Given the description of an element on the screen output the (x, y) to click on. 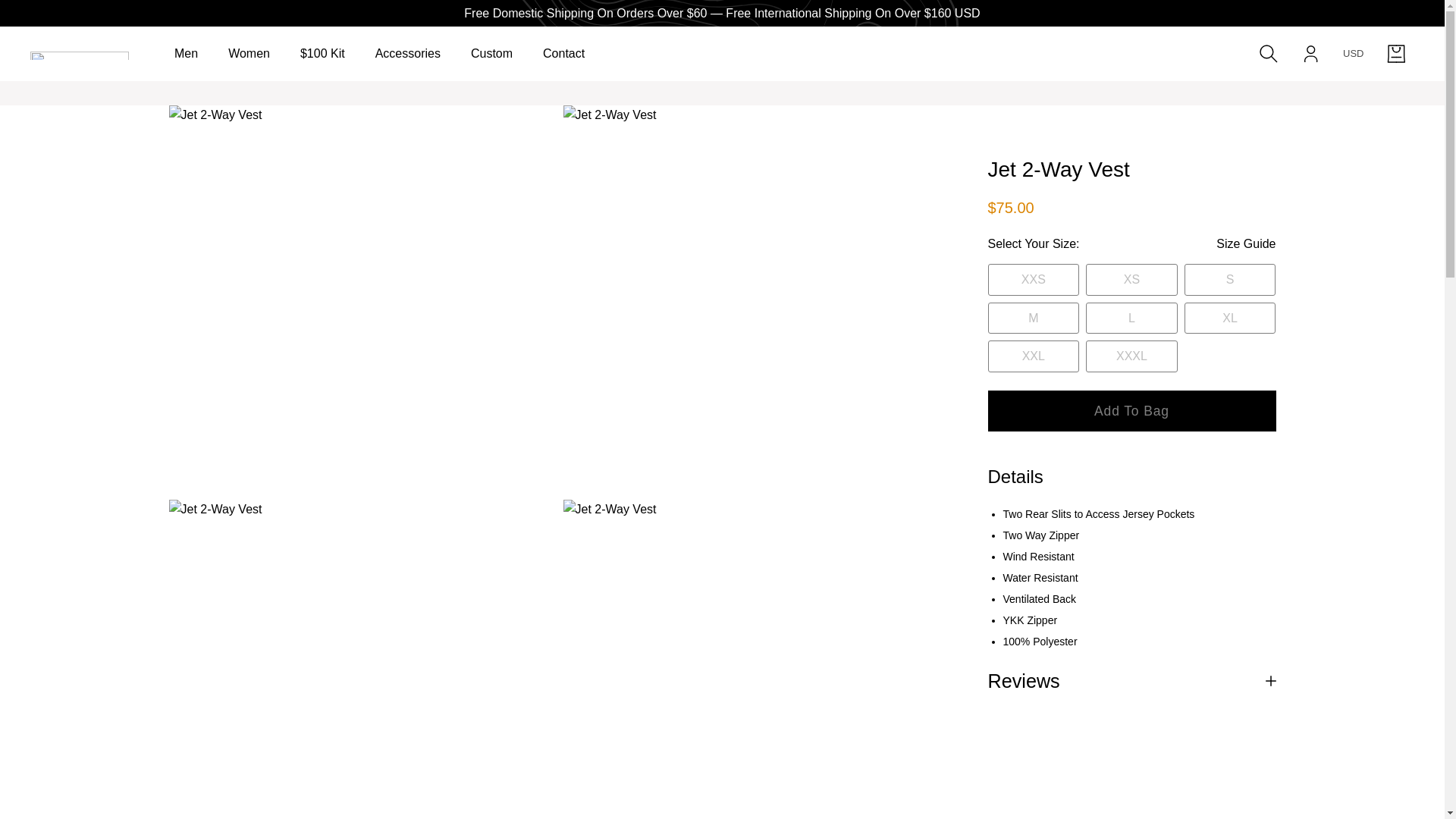
Women (248, 53)
Men (186, 53)
